Given the description of an element on the screen output the (x, y) to click on. 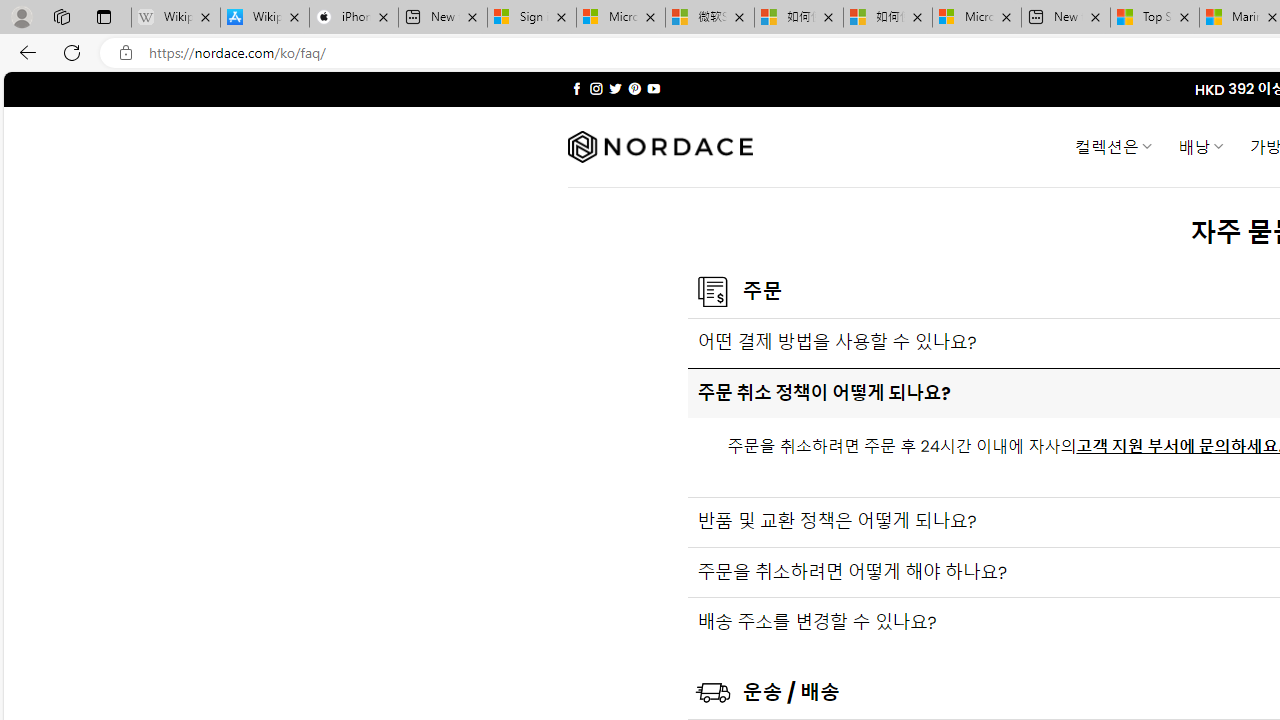
iPhone - Apple (353, 17)
Top Stories - MSN (1155, 17)
